Given the description of an element on the screen output the (x, y) to click on. 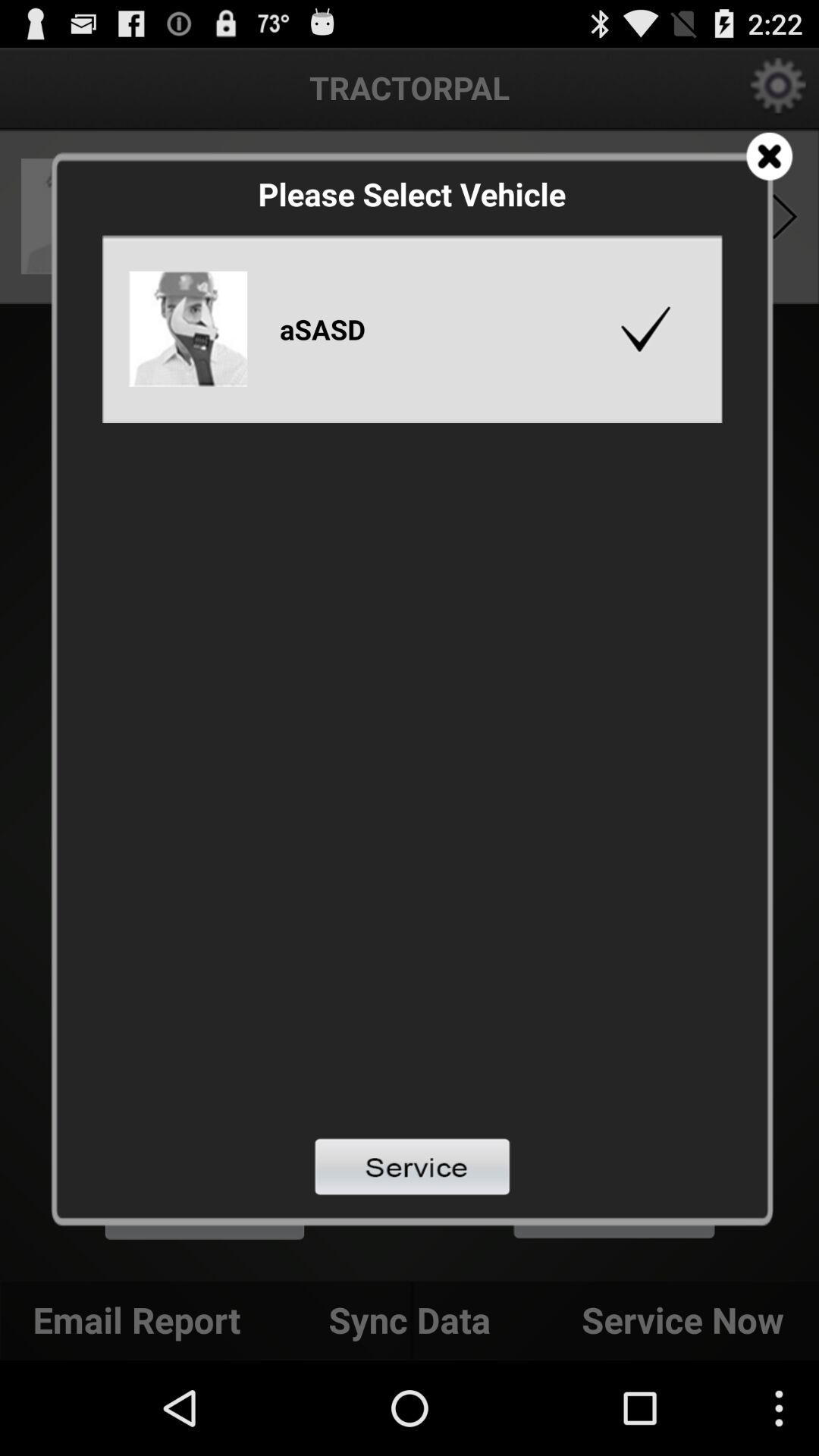
close page (769, 156)
